Given the description of an element on the screen output the (x, y) to click on. 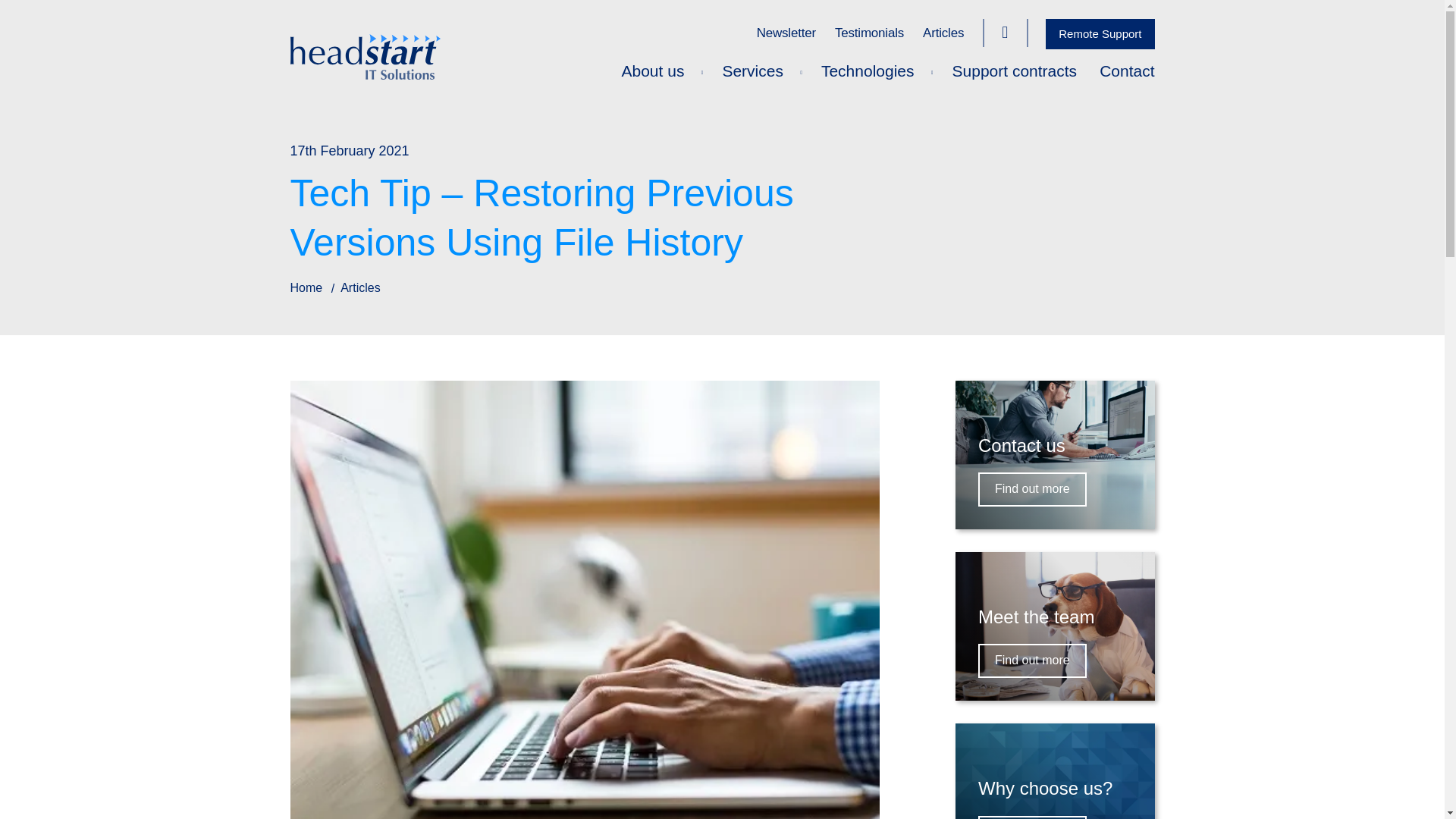
Go to Headstart IT Solutions. (305, 287)
Follow us on Facebook (1004, 33)
Headstart IT Solutions (721, 56)
Remote Support (1099, 33)
Go to Articles. (360, 287)
